Given the description of an element on the screen output the (x, y) to click on. 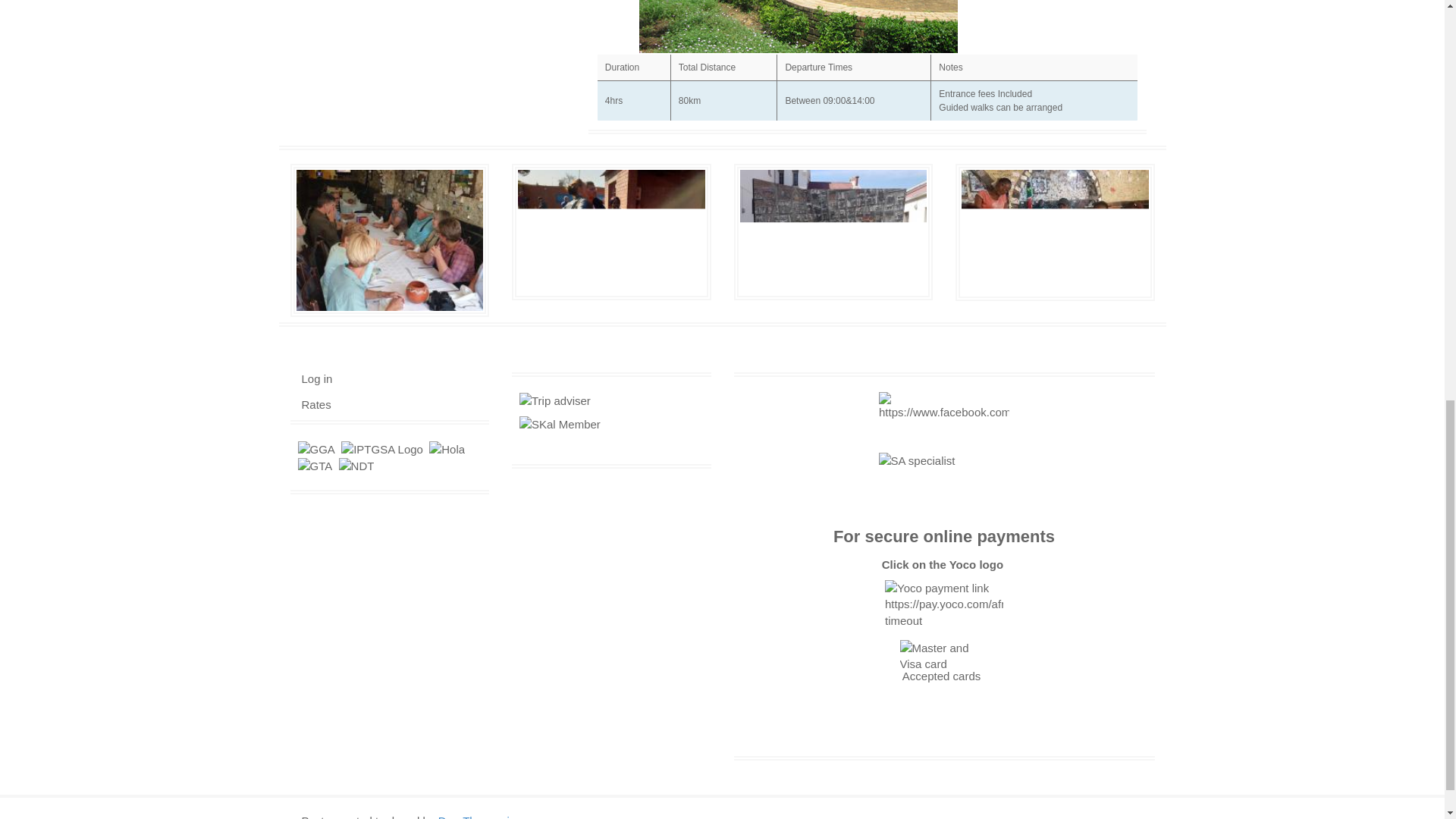
Log in (317, 378)
DropThemes.in (477, 816)
Rates (316, 404)
